Given the description of an element on the screen output the (x, y) to click on. 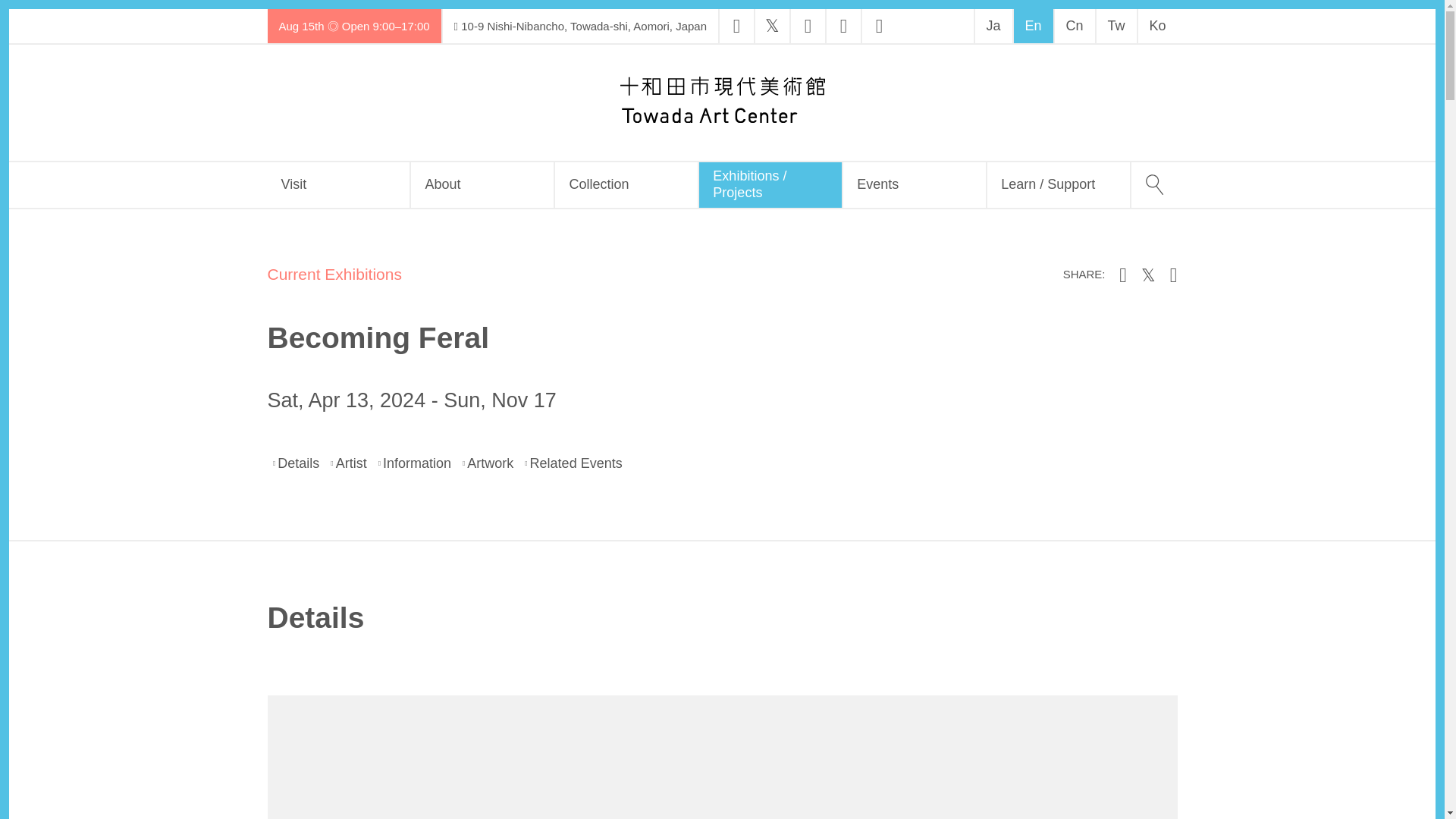
Ja (992, 26)
Read in Tw (1115, 26)
Collection (625, 185)
Cn (1073, 26)
Read in Cn (1073, 26)
10-9 Nishi-Nibancho, Towada-shi, Aomori, Japan (579, 26)
Visit (337, 185)
Read in En (1031, 26)
Read in Ja (992, 26)
Ko (1155, 26)
